Given the description of an element on the screen output the (x, y) to click on. 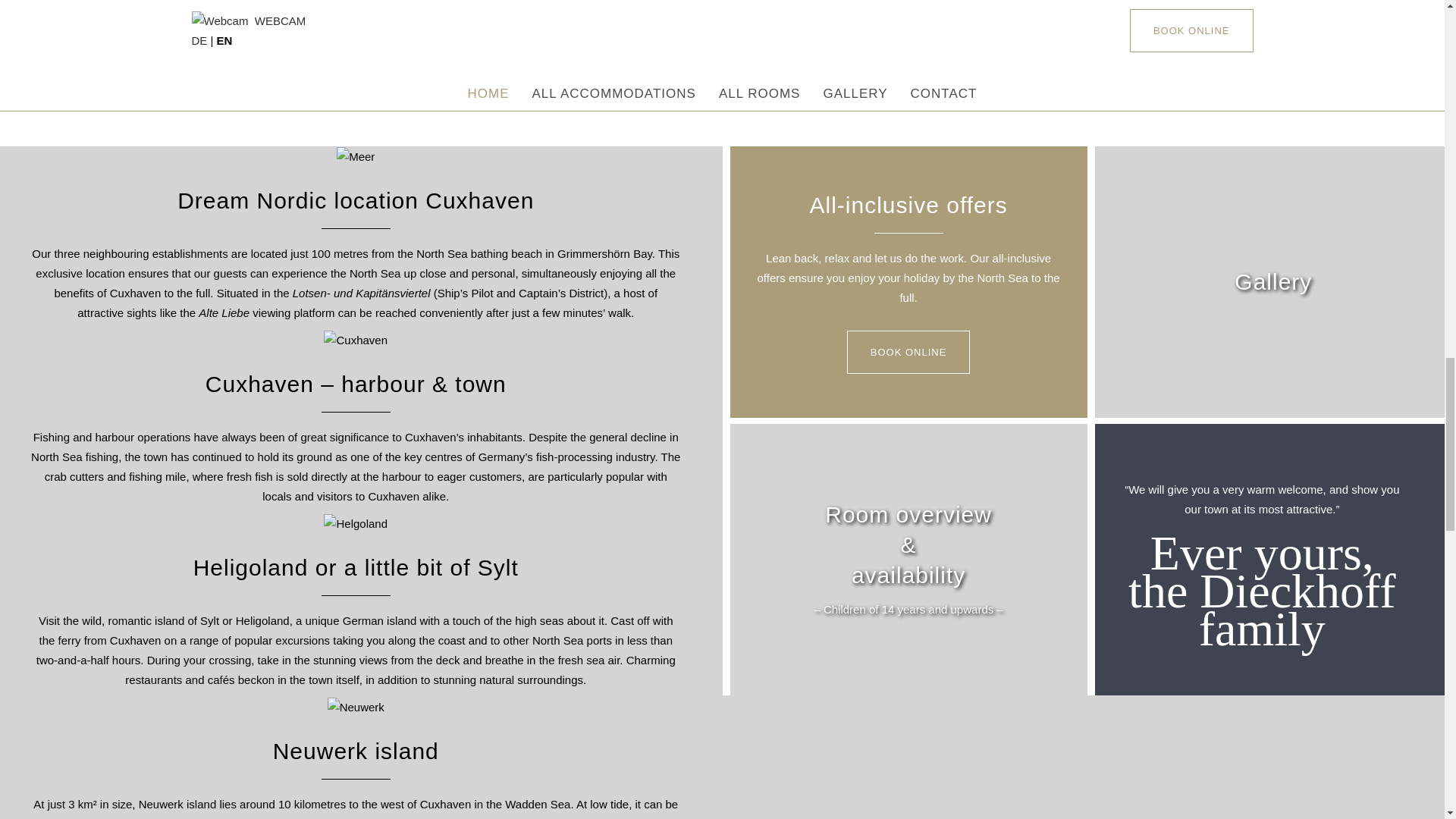
Neuwerk (355, 707)
Helgoland (355, 523)
Cuxhaven (355, 340)
Meer (355, 157)
